Given the description of an element on the screen output the (x, y) to click on. 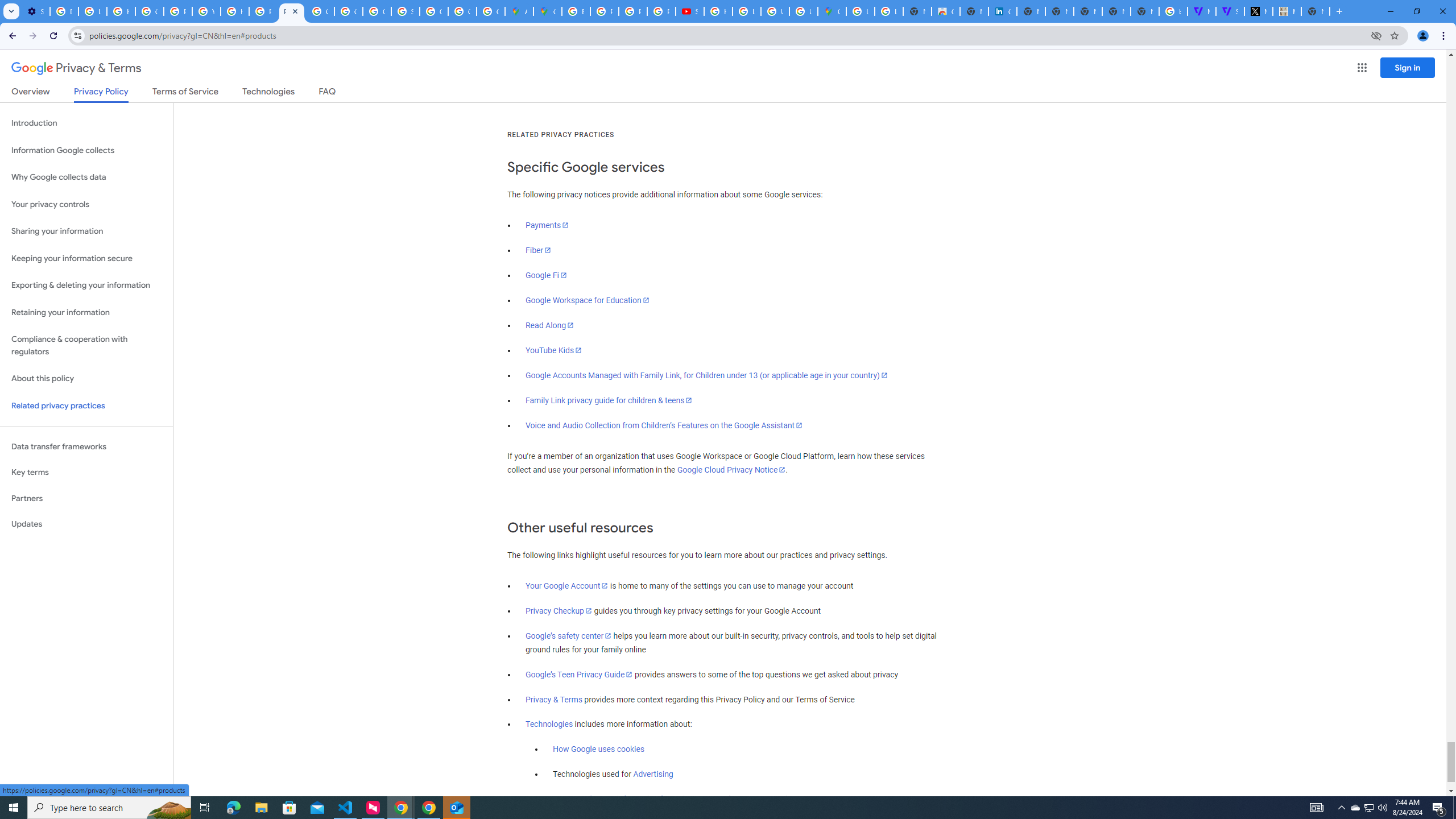
Sign in - Google Accounts (405, 11)
Cookie Policy | LinkedIn (1002, 11)
Delete photos & videos - Computer - Google Photos Help (63, 11)
